Given the description of an element on the screen output the (x, y) to click on. 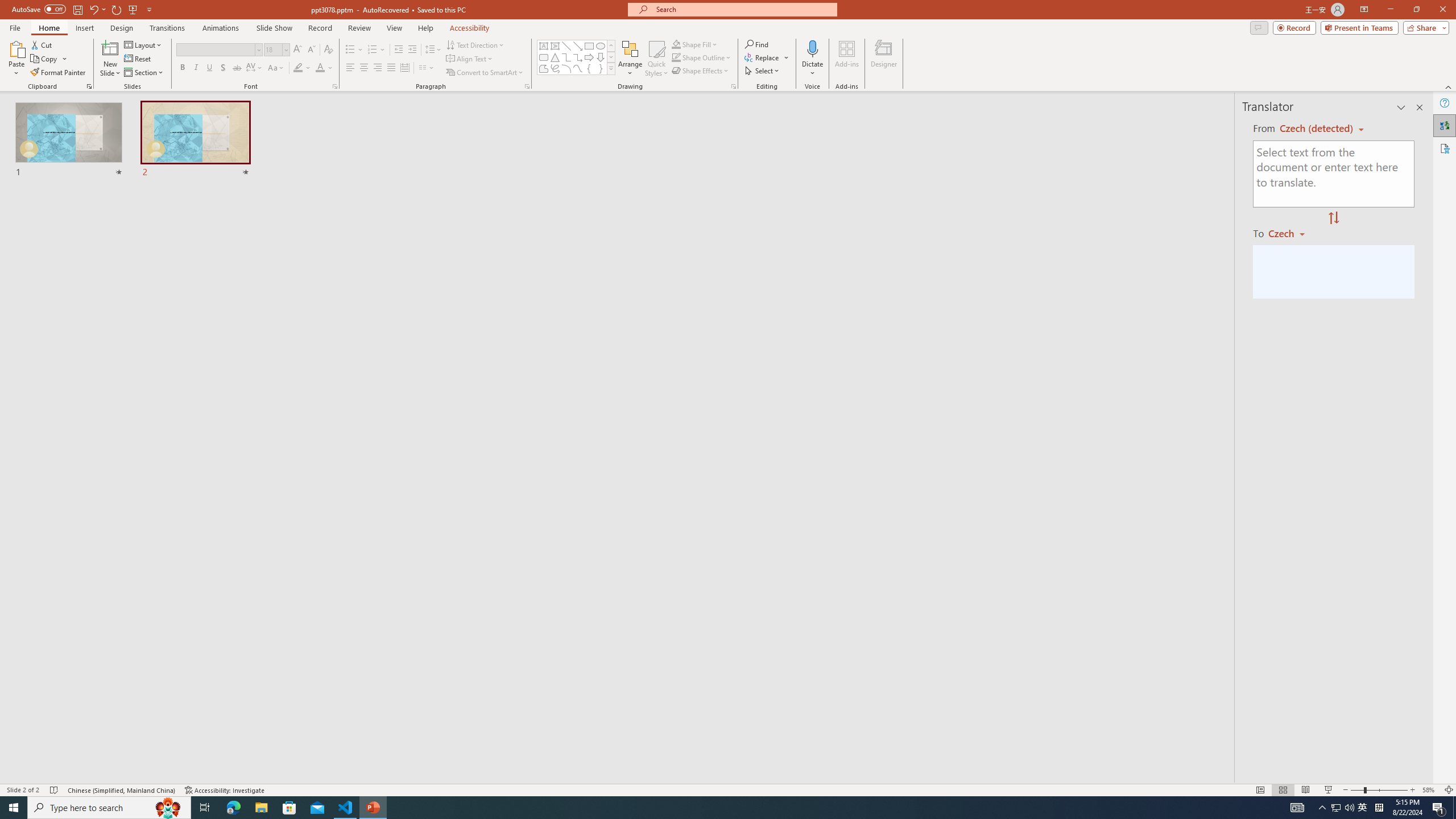
Help (1444, 102)
Oval (600, 45)
Transitions (167, 28)
Minimize (1390, 9)
Connector: Elbow (566, 57)
View (395, 28)
Customize Quick Access Toolbar (149, 9)
More Options (812, 68)
Rectangle: Rounded Corners (543, 57)
Row Down (611, 56)
Increase Indent (412, 49)
Font Color (324, 67)
Zoom In (1412, 790)
